Given the description of an element on the screen output the (x, y) to click on. 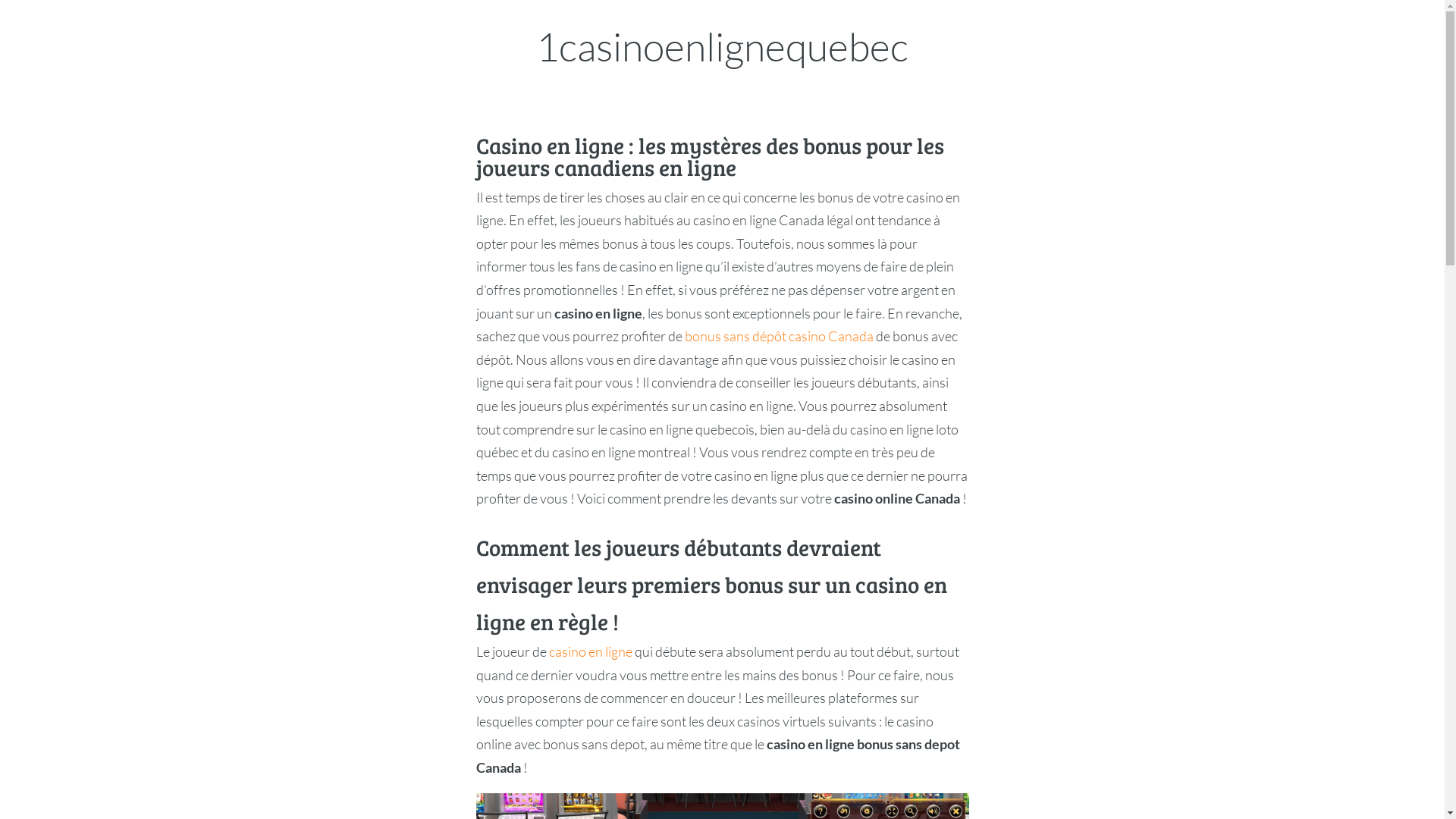
1casinoenlignequebec Element type: text (722, 45)
casino en ligne Element type: text (590, 651)
